Given the description of an element on the screen output the (x, y) to click on. 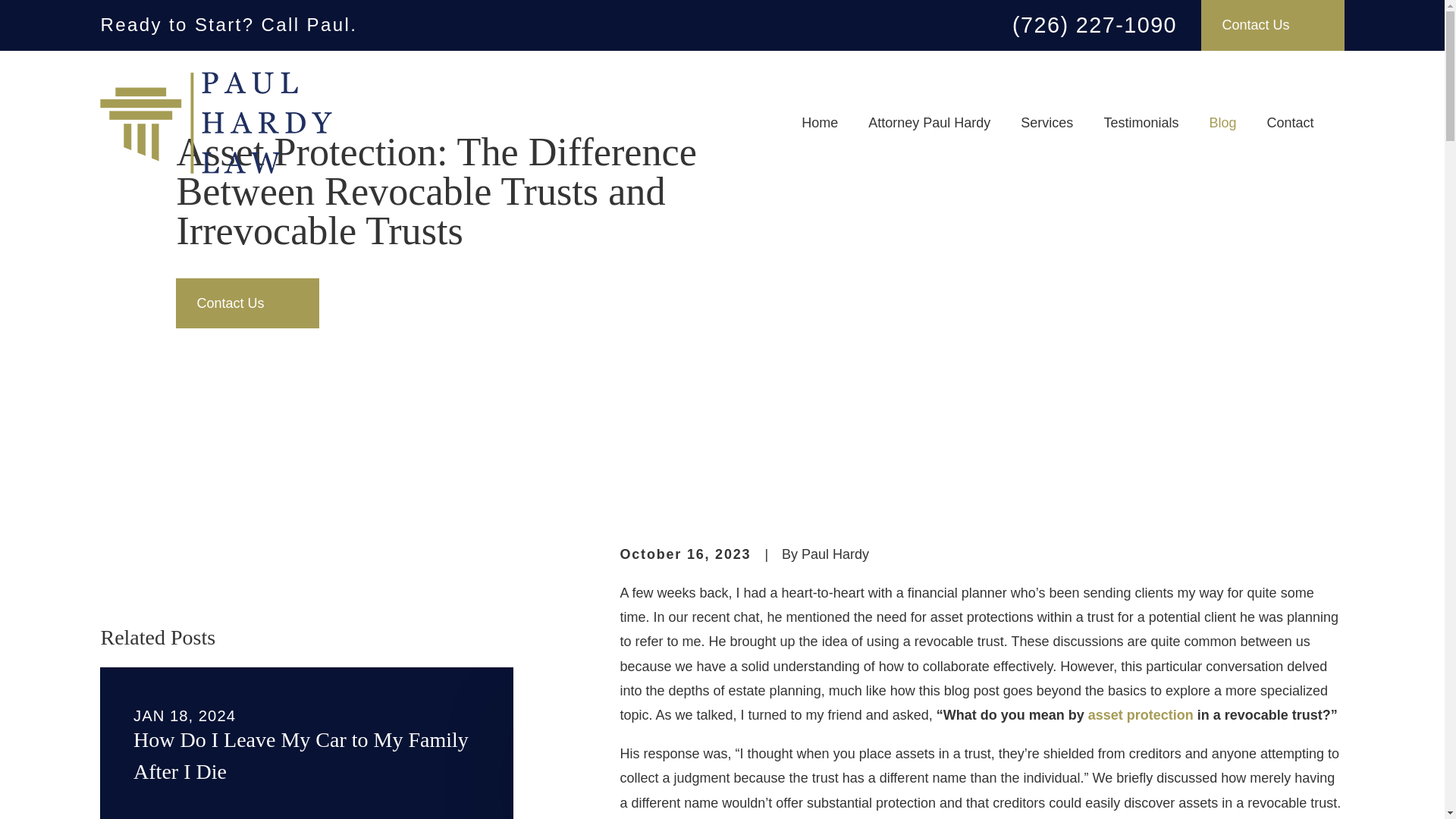
Attorney Paul Hardy (928, 122)
Services (1046, 122)
Contact Us (1272, 25)
Home (215, 122)
Contact (1289, 122)
Testimonials (1140, 122)
